Given the description of an element on the screen output the (x, y) to click on. 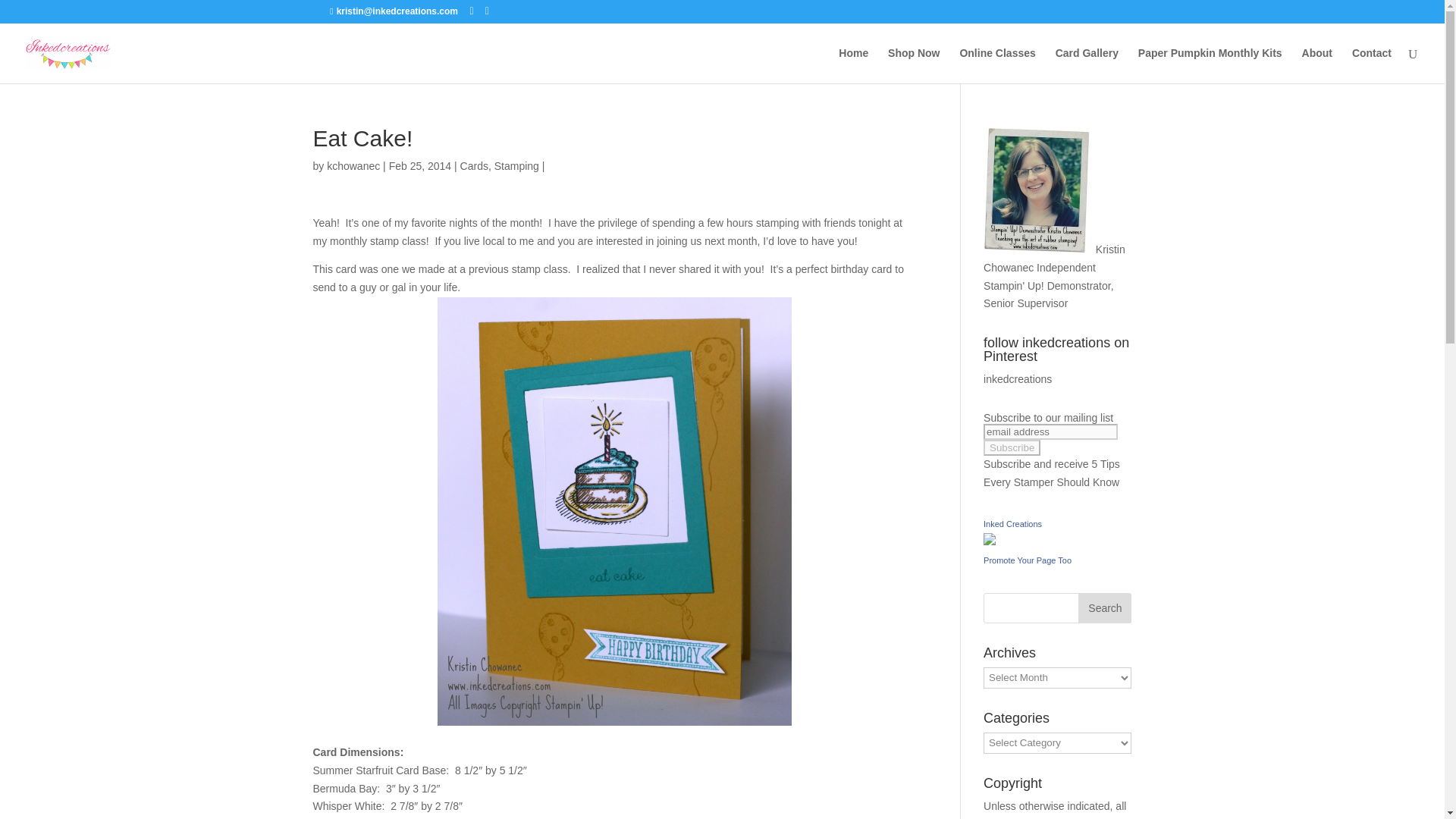
Shop Now (913, 65)
Card Gallery (1086, 65)
inkedcreations (1017, 378)
Paper Pumpkin Monthly Kits (1210, 65)
Online Classes (997, 65)
Subscribe (1012, 447)
Contact (1371, 65)
Cards (473, 165)
Search (1104, 607)
Subscribe (1012, 447)
